Given the description of an element on the screen output the (x, y) to click on. 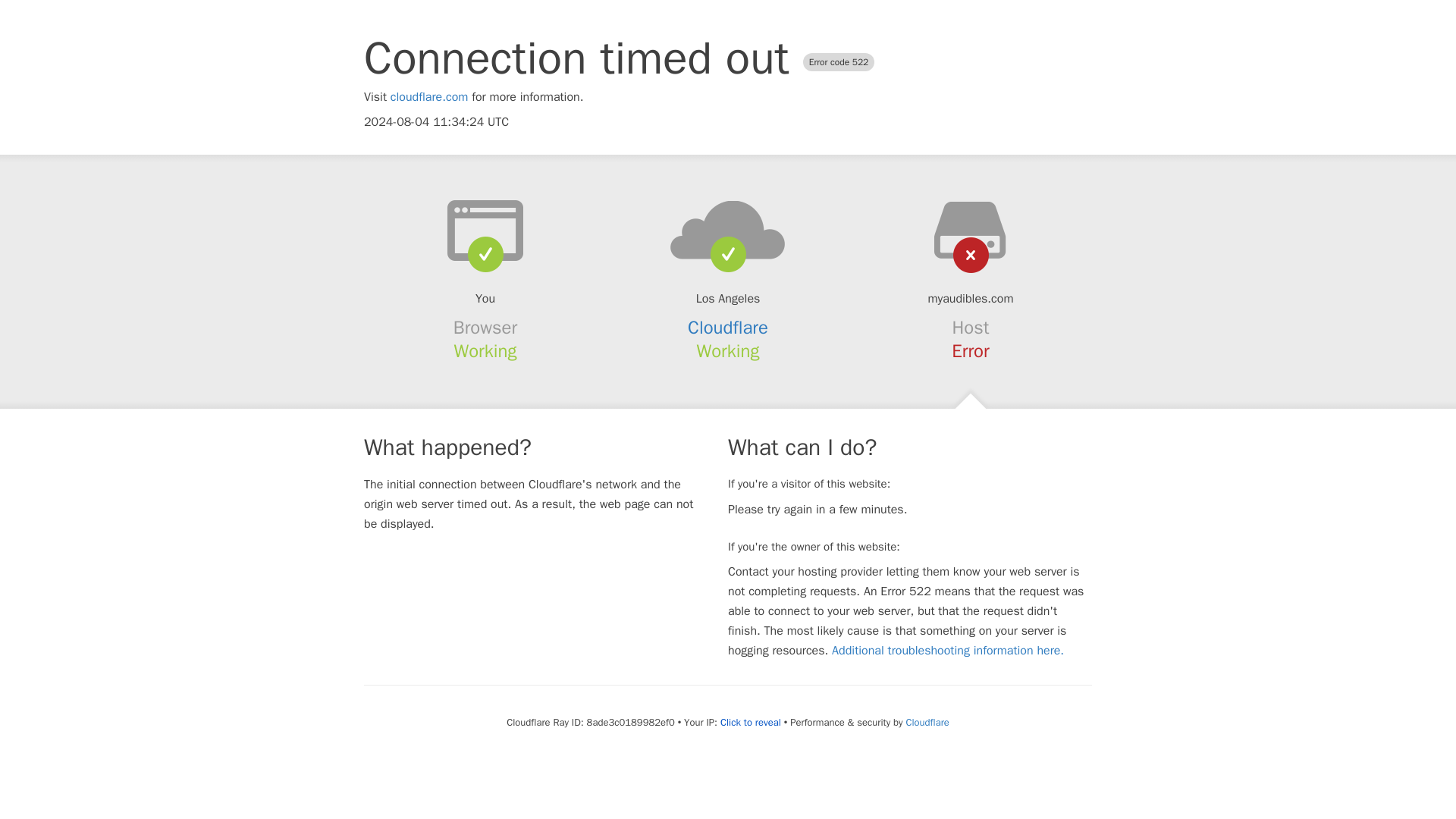
Additional troubleshooting information here. (947, 650)
Cloudflare (727, 327)
cloudflare.com (429, 96)
Click to reveal (750, 722)
Cloudflare (927, 721)
